Given the description of an element on the screen output the (x, y) to click on. 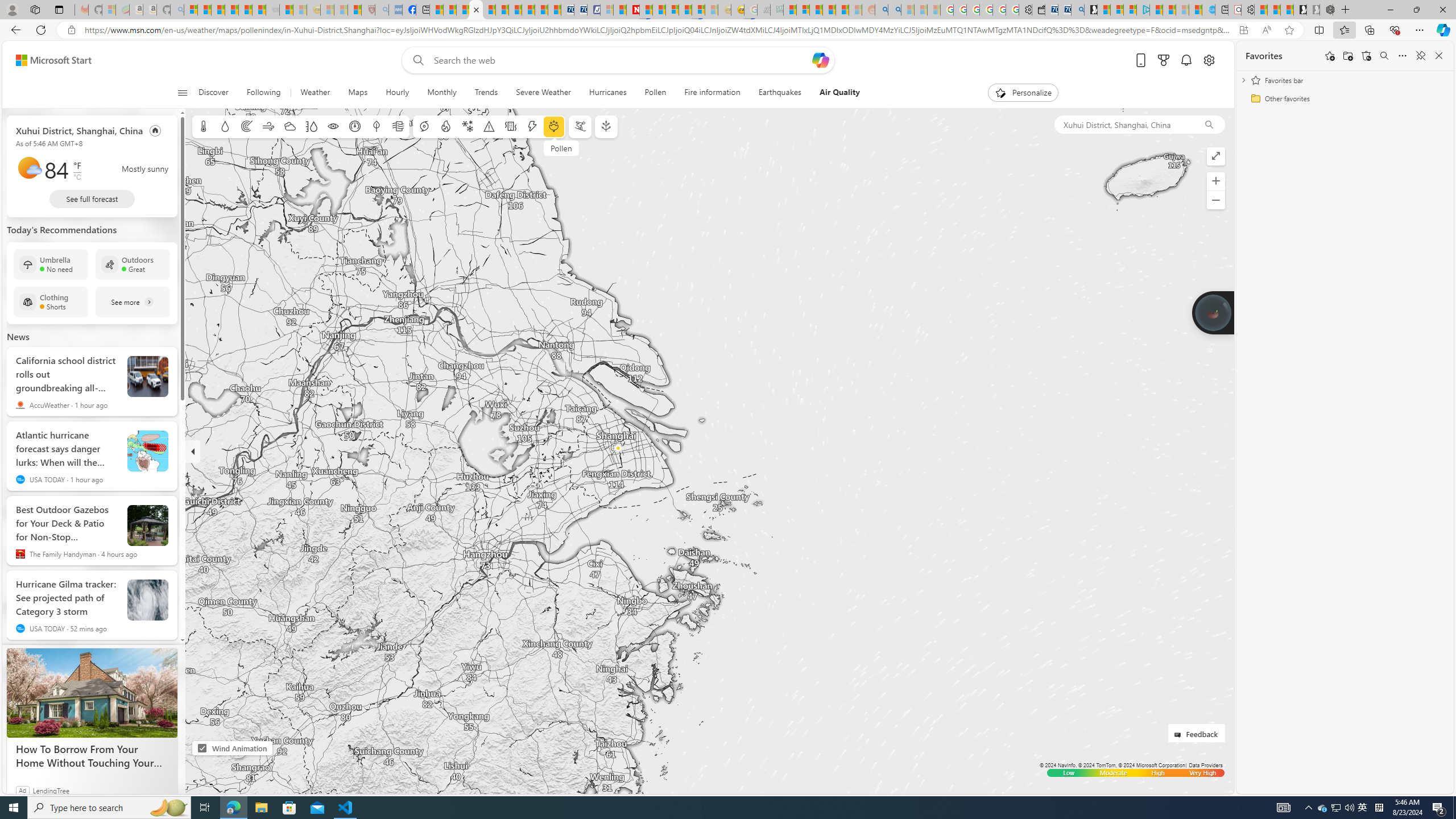
Xuhui District, Shanghai, China (1123, 124)
New Report Confirms 2023 Was Record Hot | Watch (245, 9)
Trends (485, 92)
Earthquakes (779, 92)
Set as primary location (155, 130)
Air quality (397, 126)
Wind Animation (202, 747)
DITOGAMES AG Imprint - Sleeping (776, 9)
